Given the description of an element on the screen output the (x, y) to click on. 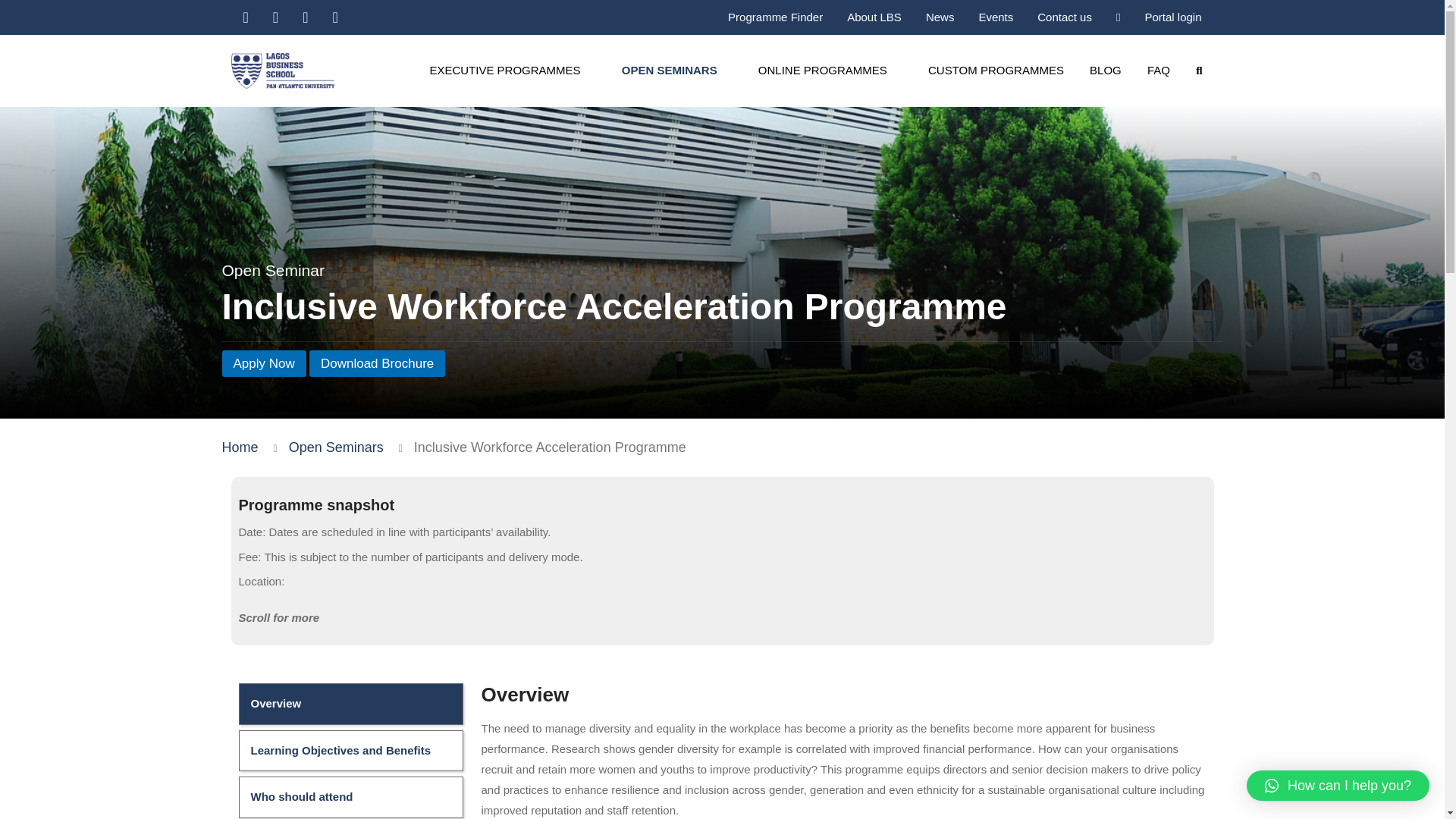
Go to Executive Programmes (336, 447)
Go to LBS Executive Education (239, 447)
Scroll for more (721, 618)
